Given the description of an element on the screen output the (x, y) to click on. 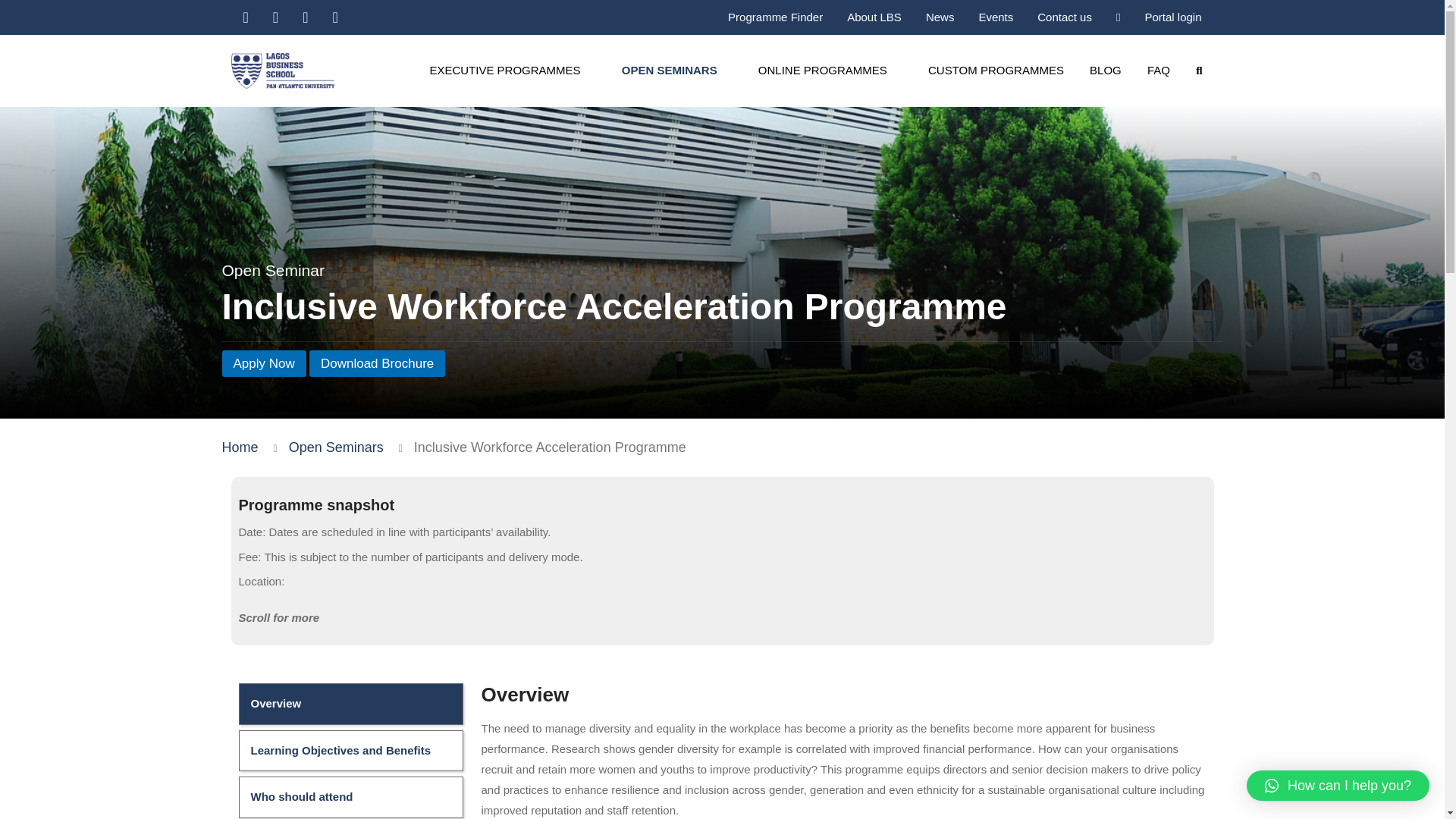
Go to Executive Programmes (336, 447)
Go to LBS Executive Education (239, 447)
Scroll for more (721, 618)
